Given the description of an element on the screen output the (x, y) to click on. 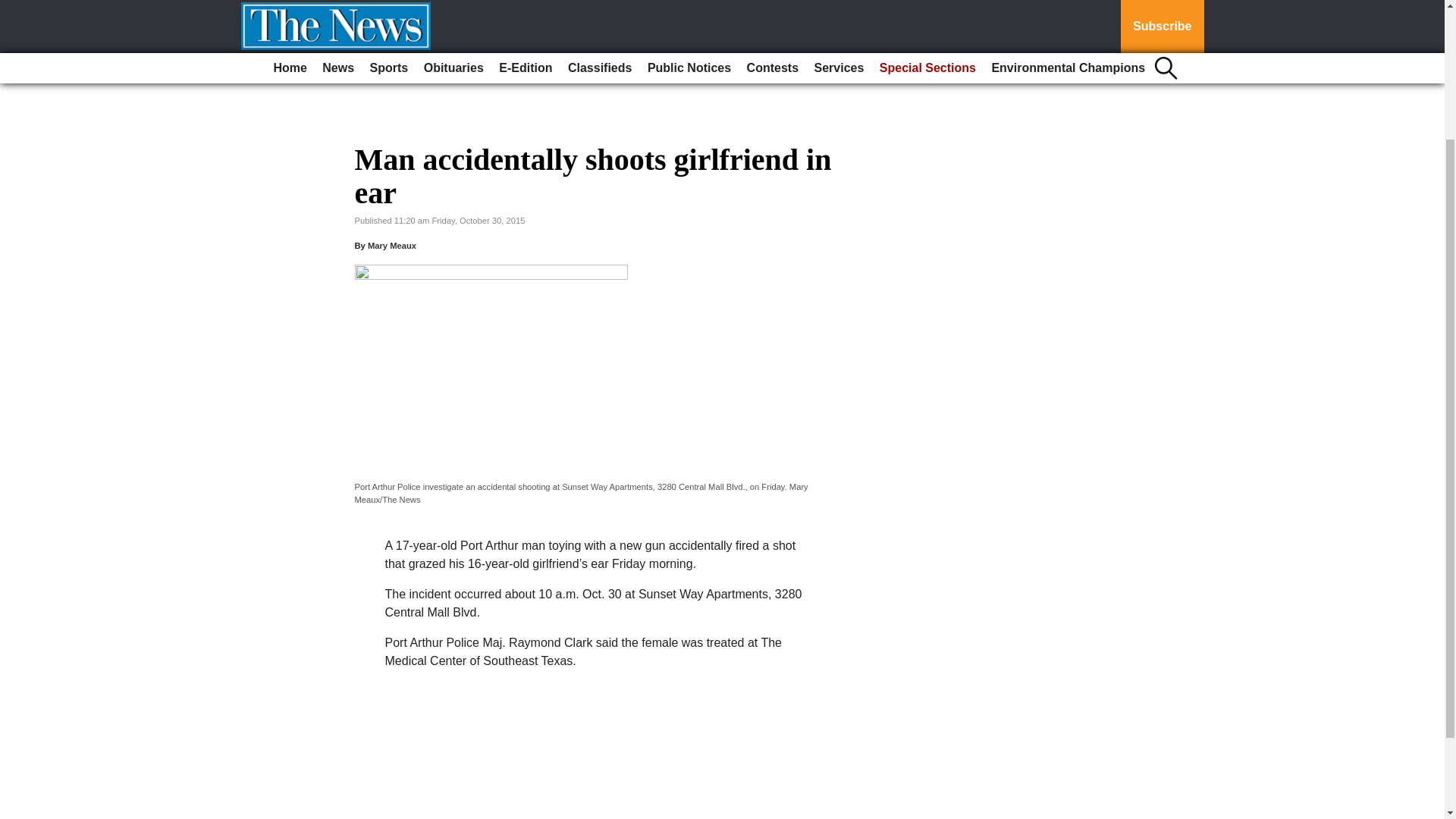
Mary Meaux (392, 245)
